Given the description of an element on the screen output the (x, y) to click on. 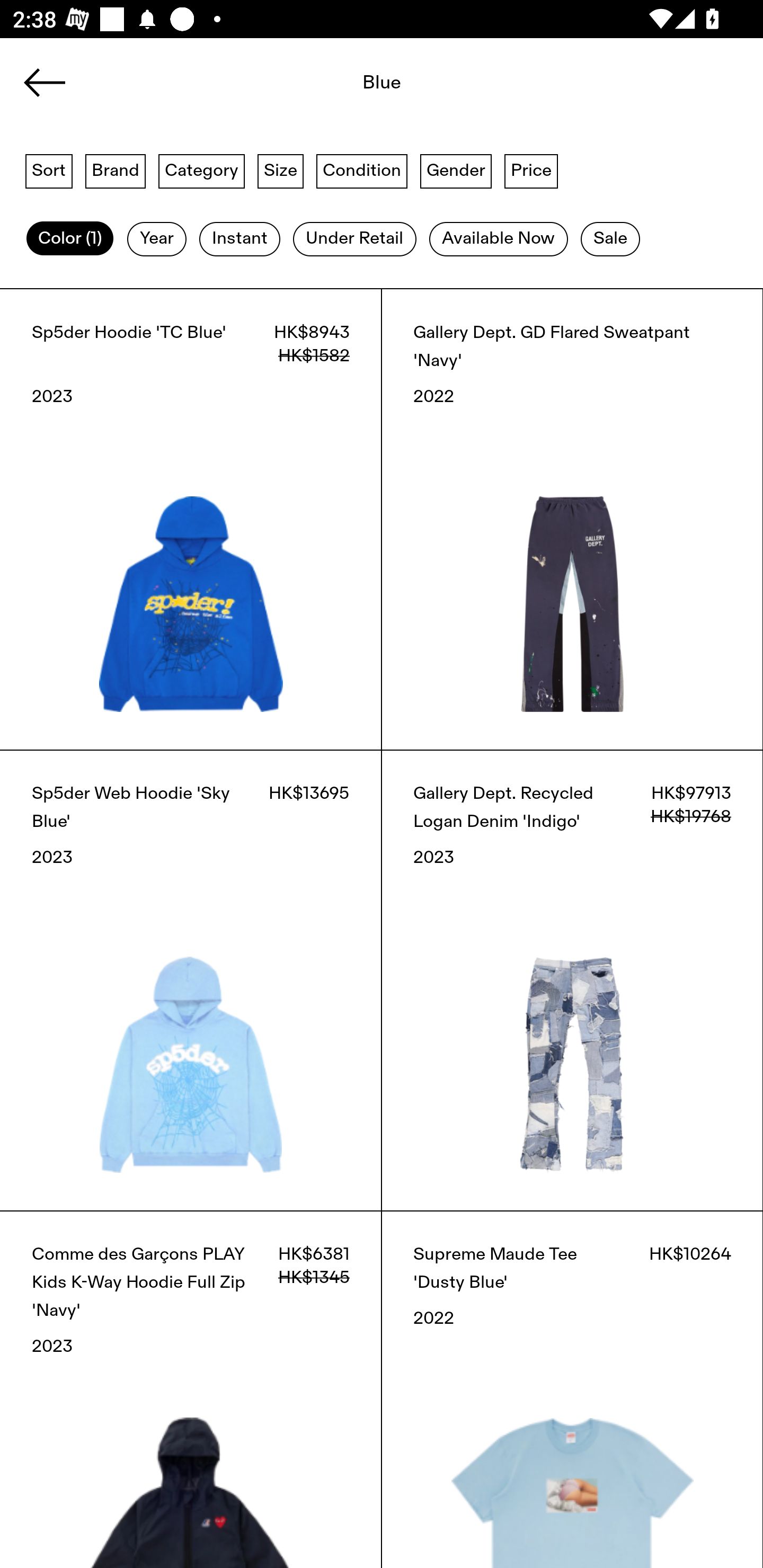
Sort (48, 170)
Brand (115, 170)
Category (201, 170)
Size (280, 170)
Condition (361, 170)
Gender (455, 170)
Price (530, 170)
Color (1) (69, 239)
Year (156, 239)
Instant (239, 239)
Under Retail (354, 239)
Available Now (497, 239)
Sale (610, 239)
Sp5der Hoodie 'TC Blue' HK$8943 HK$1582 2023 (190, 518)
Gallery Dept. GD Flared Sweatpant 'Navy' 2022 (572, 518)
Sp5der Web Hoodie 'Sky Blue' HK$13695 2023 (190, 979)
Supreme Maude Tee 'Dusty Blue' HK$10264 2022 (572, 1389)
